Given the description of an element on the screen output the (x, y) to click on. 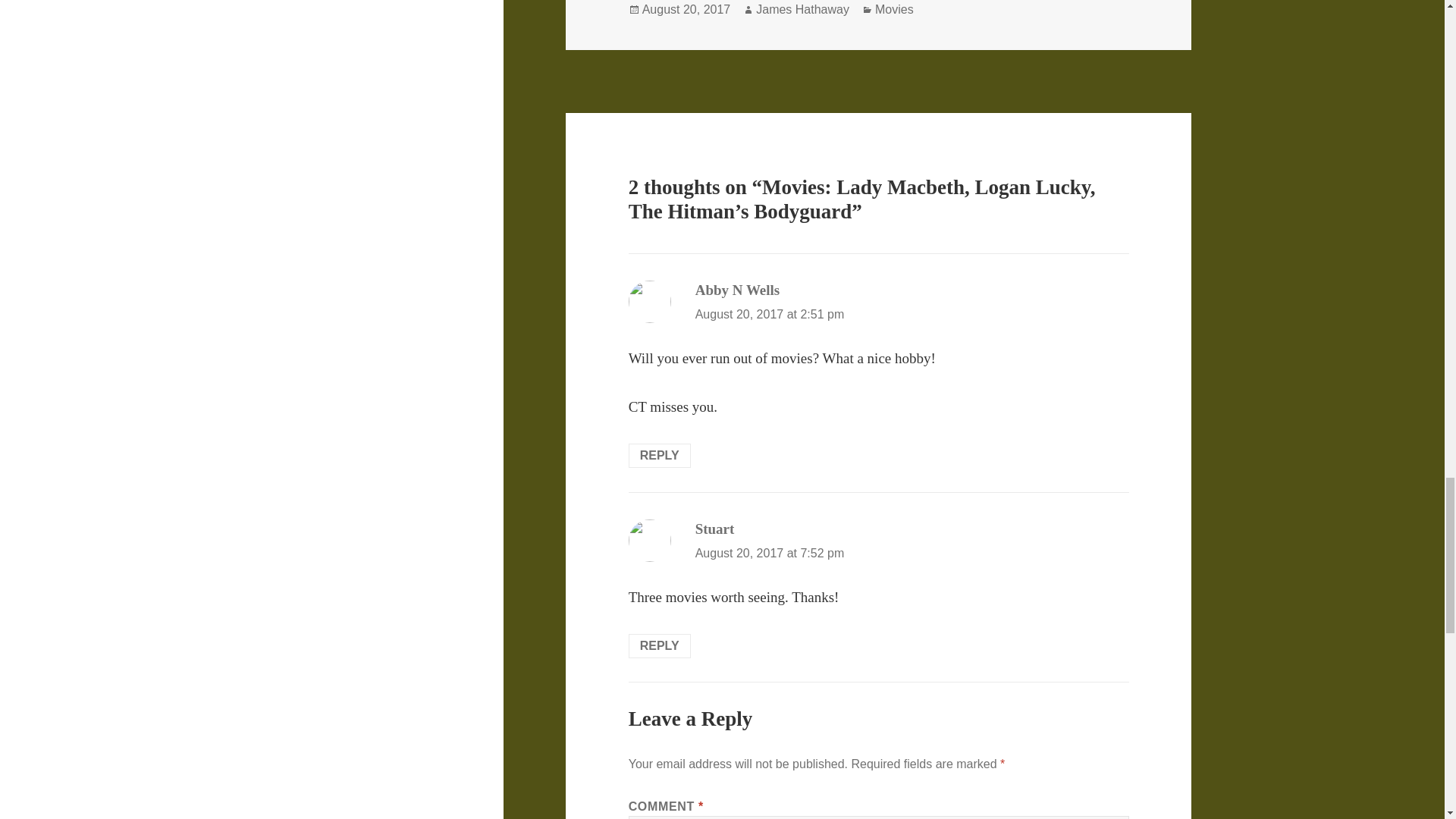
Movies (894, 9)
REPLY (659, 645)
August 20, 2017 at 2:51 pm (769, 314)
August 20, 2017 at 7:52 pm (769, 553)
REPLY (659, 455)
James Hathaway (801, 9)
August 20, 2017 (686, 9)
